Given the description of an element on the screen output the (x, y) to click on. 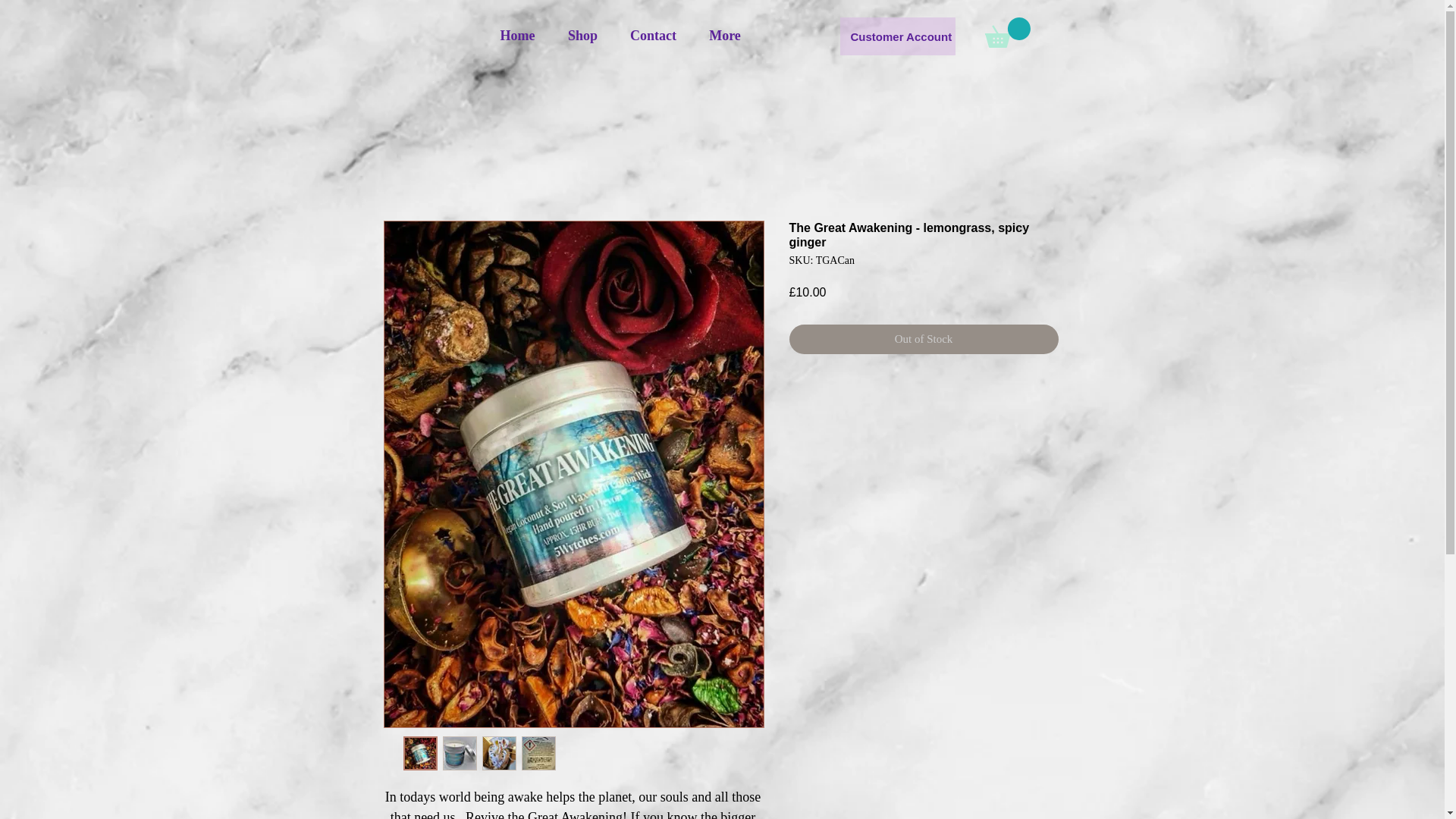
Out of Stock (923, 338)
Home (517, 35)
Contact (653, 35)
Customer Account (897, 36)
Shop (581, 35)
